Given the description of an element on the screen output the (x, y) to click on. 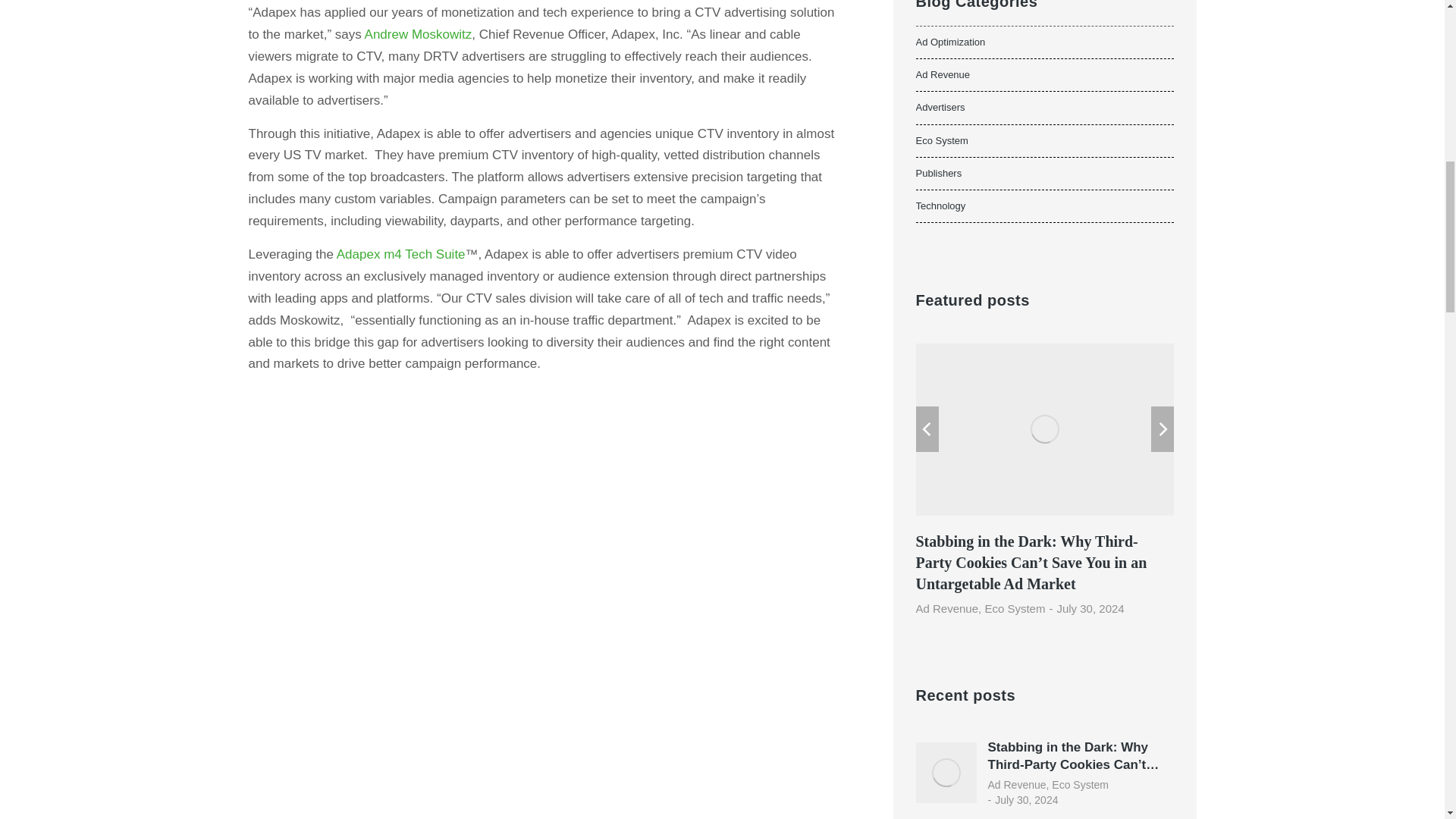
Ad Optimization (1044, 42)
Adapex m4 Tech Suite (400, 254)
Andrew Moskowitz (418, 34)
Advertisers (1044, 107)
Ad Revenue (1044, 74)
Technology (1044, 206)
Eco System (1044, 141)
Publishers (1044, 174)
